Given the description of an element on the screen output the (x, y) to click on. 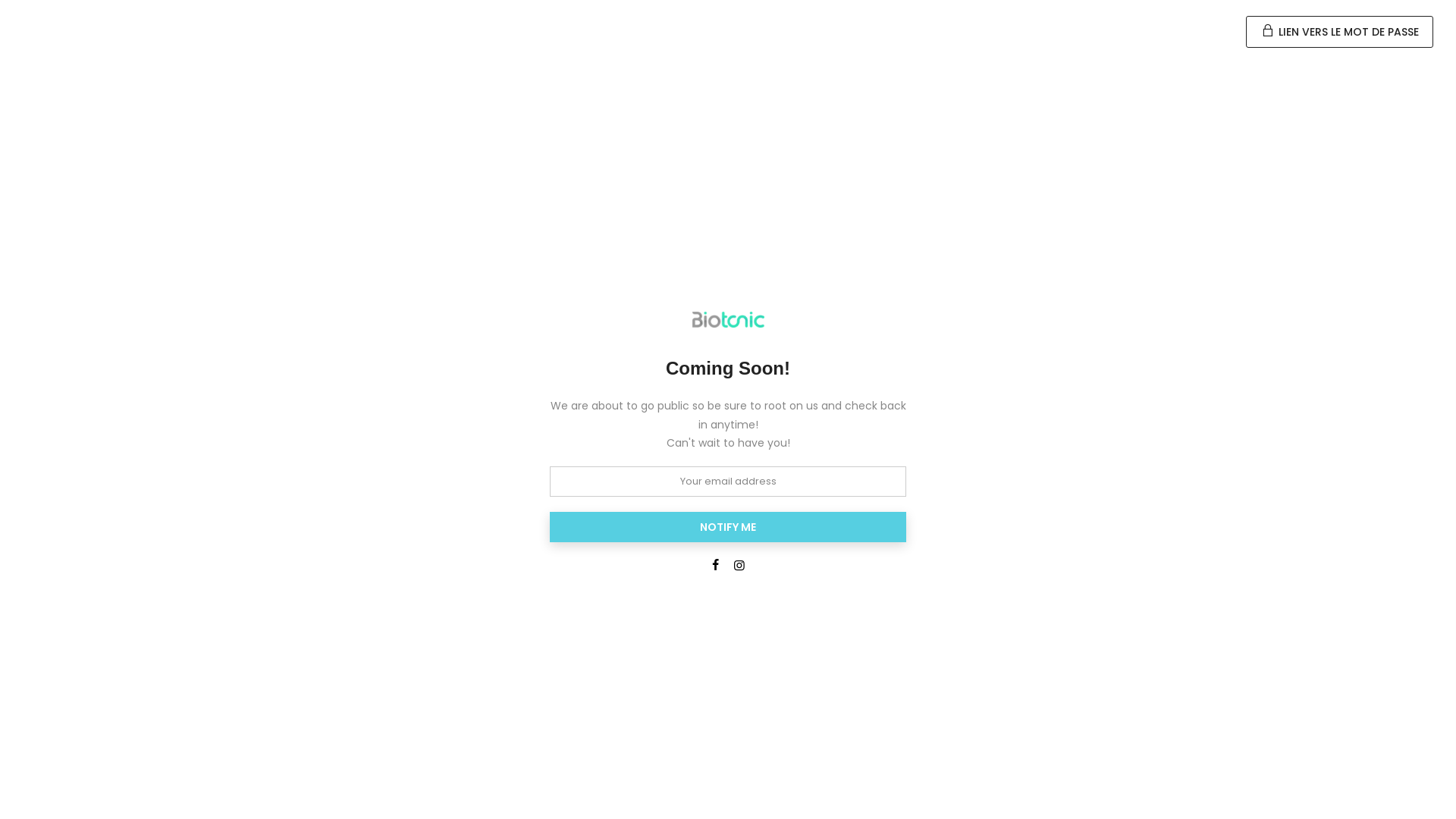
NOTIFY ME Element type: text (727, 526)
LIEN VERS LE MOT DE PASSE Element type: text (1339, 31)
